Given the description of an element on the screen output the (x, y) to click on. 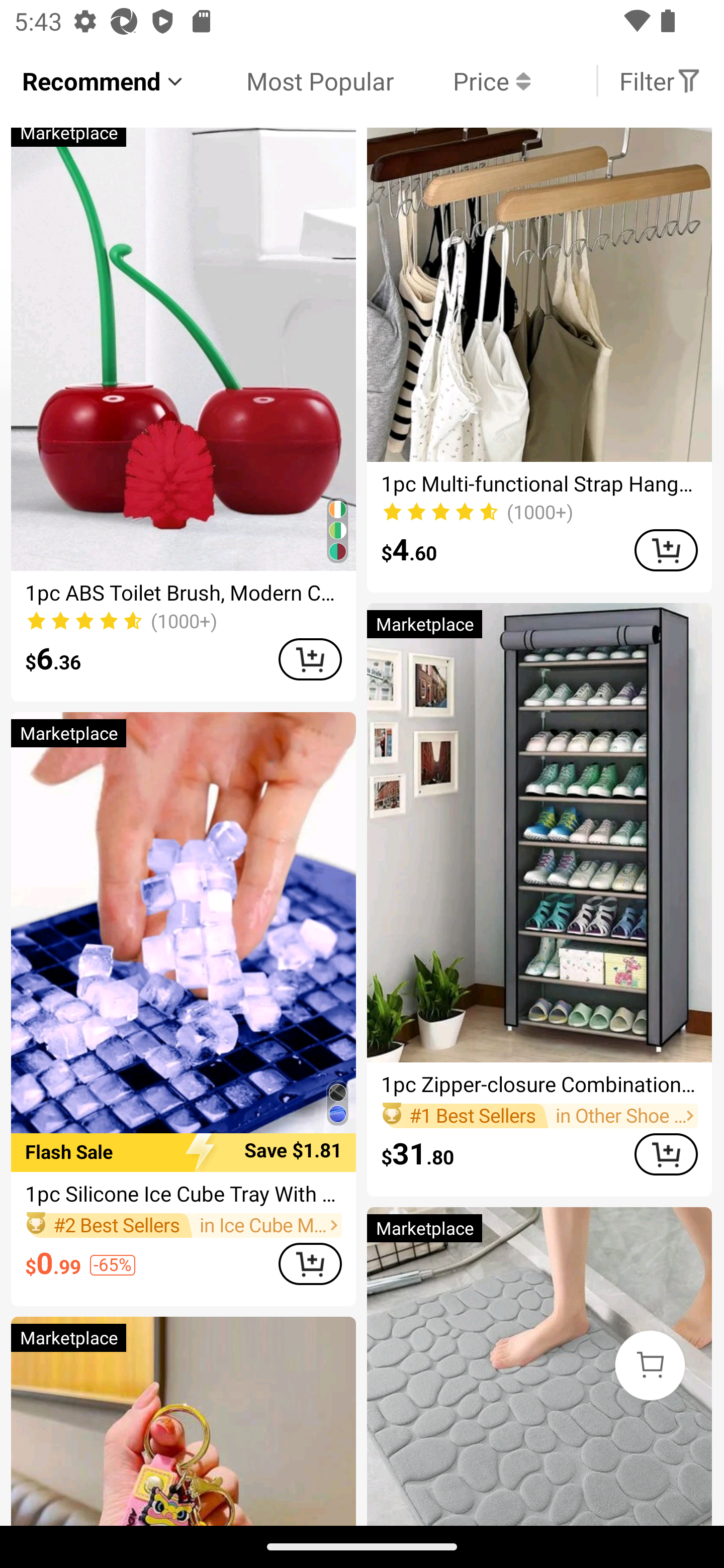
Recommend (103, 80)
Most Popular (289, 80)
Price (461, 80)
Filter (660, 80)
ADD TO CART (665, 549)
ADD TO CART (309, 659)
#1 Best Sellers in Other Shoe Organizers (538, 1116)
ADD TO CART (665, 1154)
#2 Best Sellers in Ice Cube Mould (183, 1224)
ADD TO CART (309, 1264)
